Given the description of an element on the screen output the (x, y) to click on. 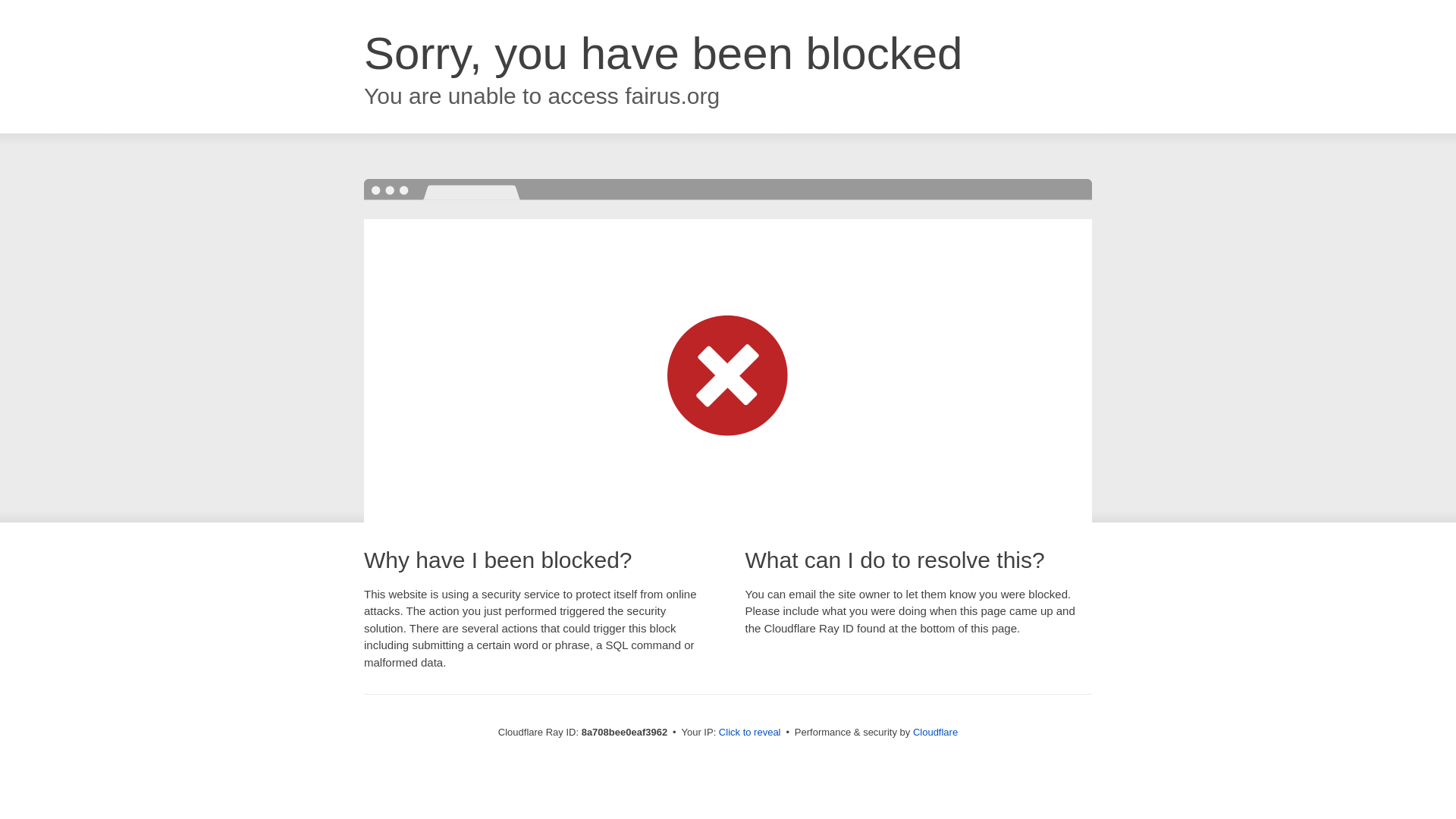
Click to reveal (749, 732)
Cloudflare (935, 731)
